Given the description of an element on the screen output the (x, y) to click on. 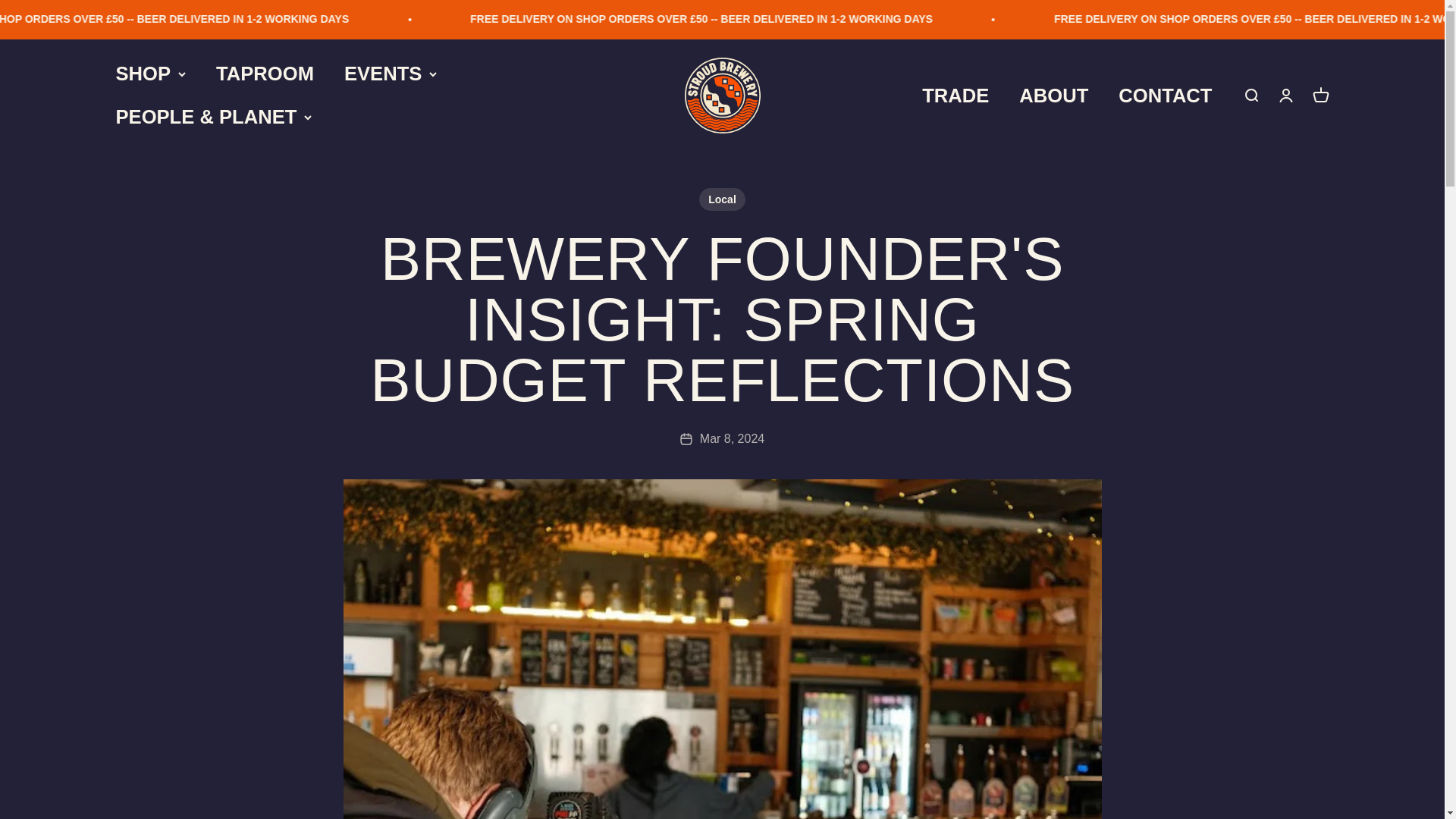
Stroud Brewery (722, 95)
TAPROOM (264, 73)
